Given the description of an element on the screen output the (x, y) to click on. 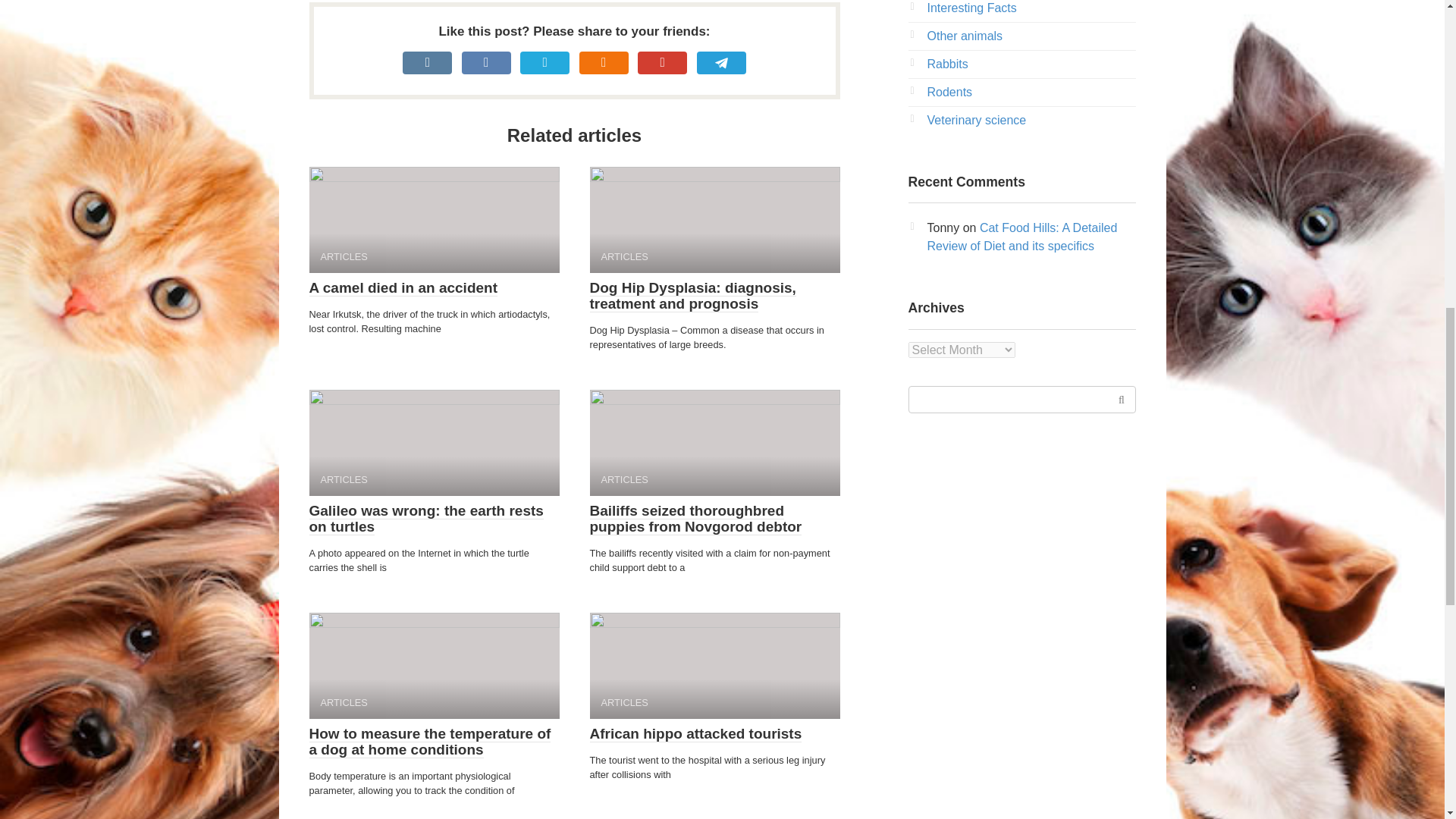
ARTICLES (433, 219)
ARTICLES (714, 665)
African hippo attacked tourists (695, 733)
Galileo was wrong: the earth rests on turtles (425, 518)
Rabbits (947, 63)
Veterinary science (976, 119)
ARTICLES (433, 665)
ARTICLES (714, 219)
Bailiffs seized thoroughbred puppies from Novgorod debtor (695, 518)
A camel died in an accident (402, 288)
